Given the description of an element on the screen output the (x, y) to click on. 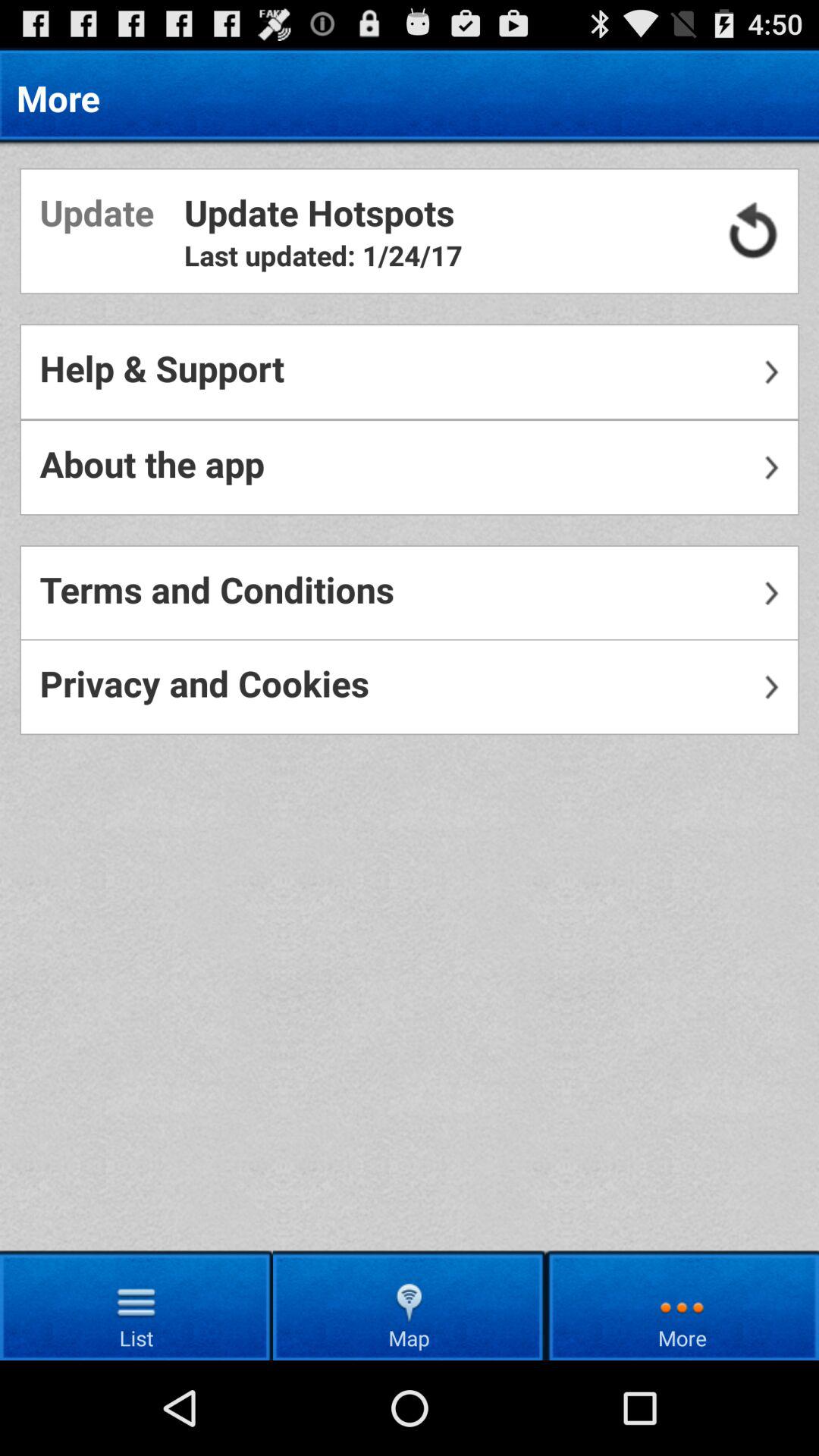
jump to the help & support item (409, 371)
